Given the description of an element on the screen output the (x, y) to click on. 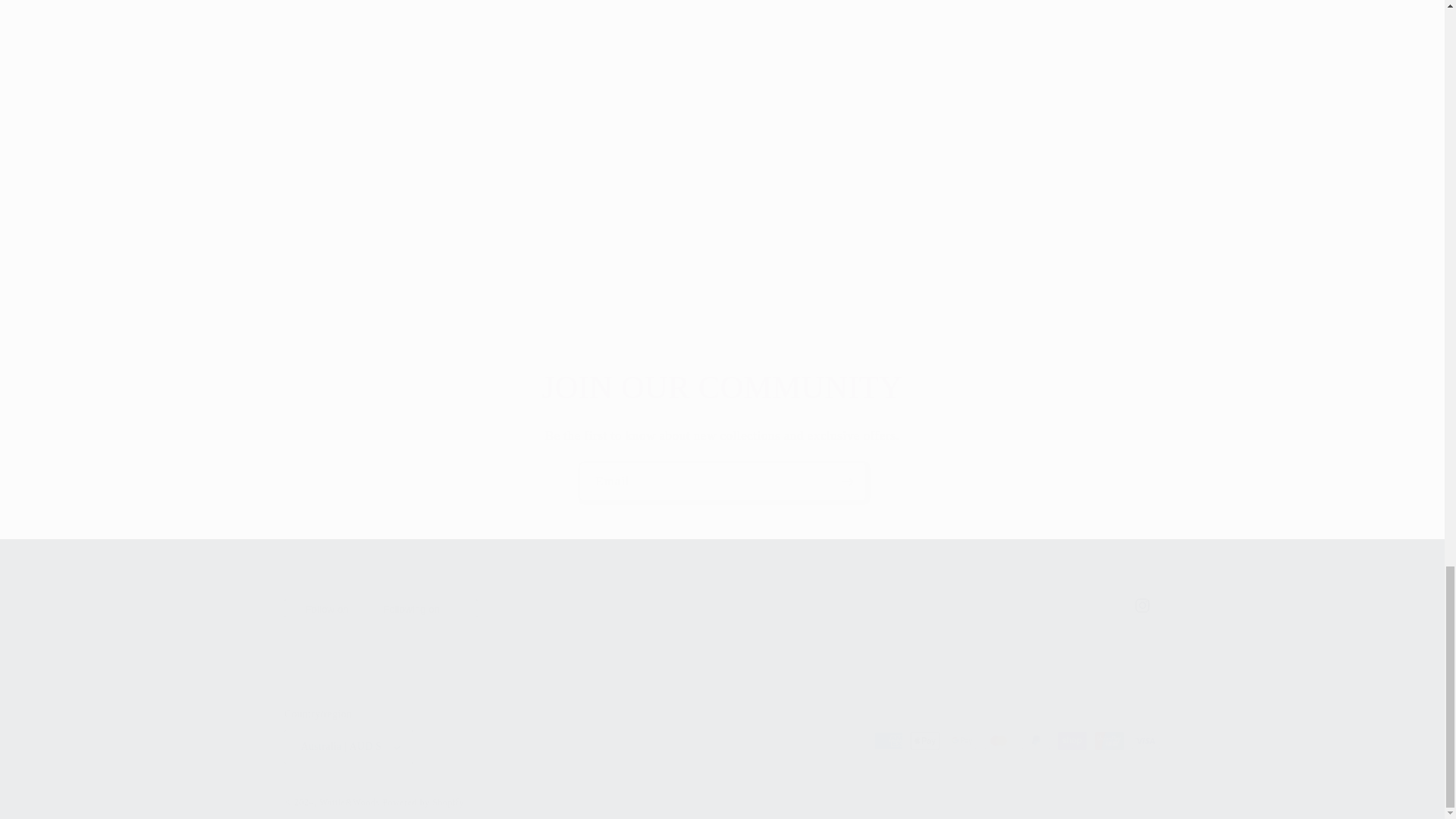
Instagram (721, 605)
JOIN OUR COMMUNITY (722, 387)
Email (722, 480)
